Given the description of an element on the screen output the (x, y) to click on. 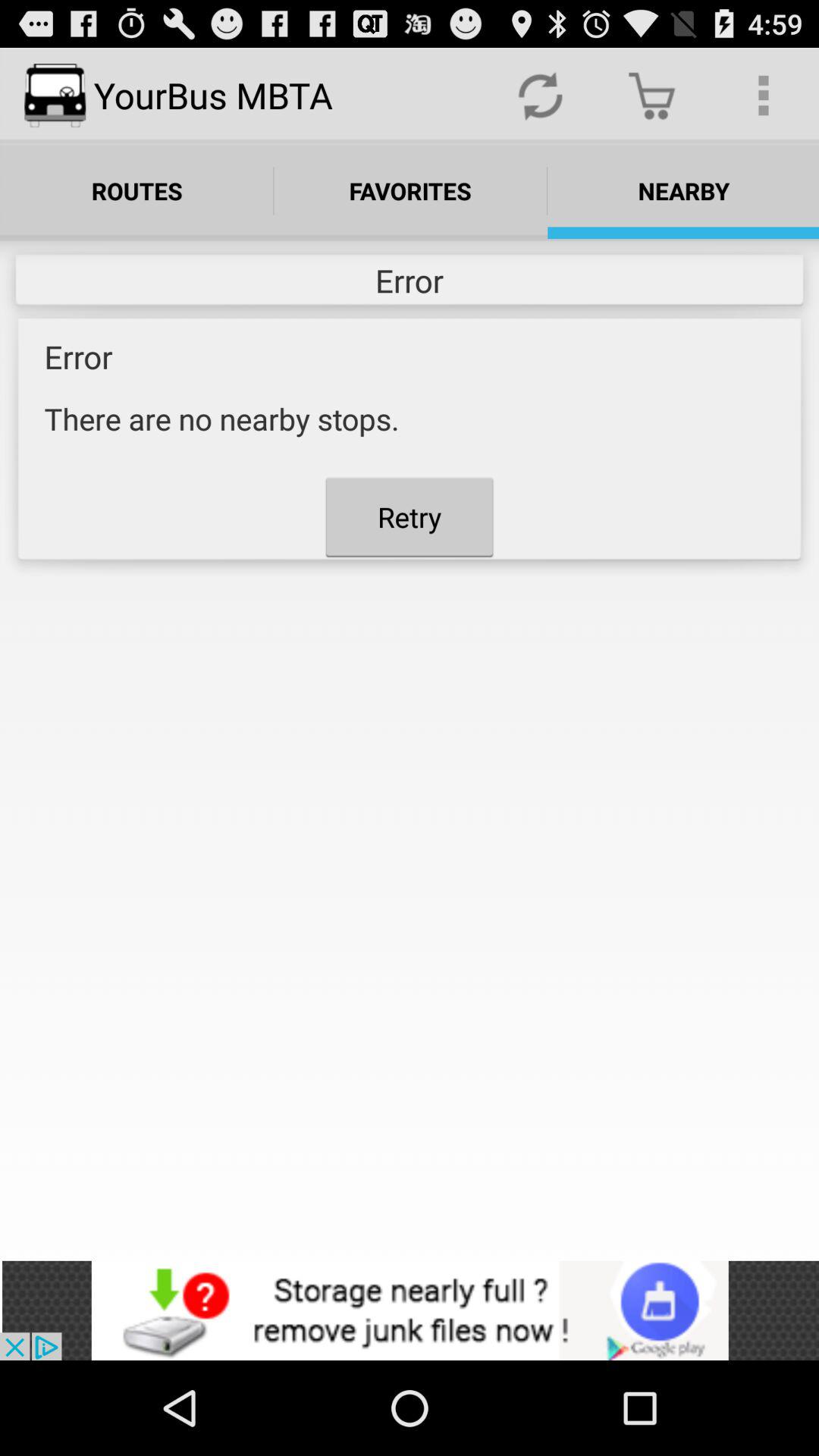
select the logo left side of yourbus mbta (54, 95)
go to retry (409, 516)
option right to routes (410, 190)
click on the trolly icon (651, 95)
click on text nearby (683, 190)
click on refresh button (540, 95)
